Given the description of an element on the screen output the (x, y) to click on. 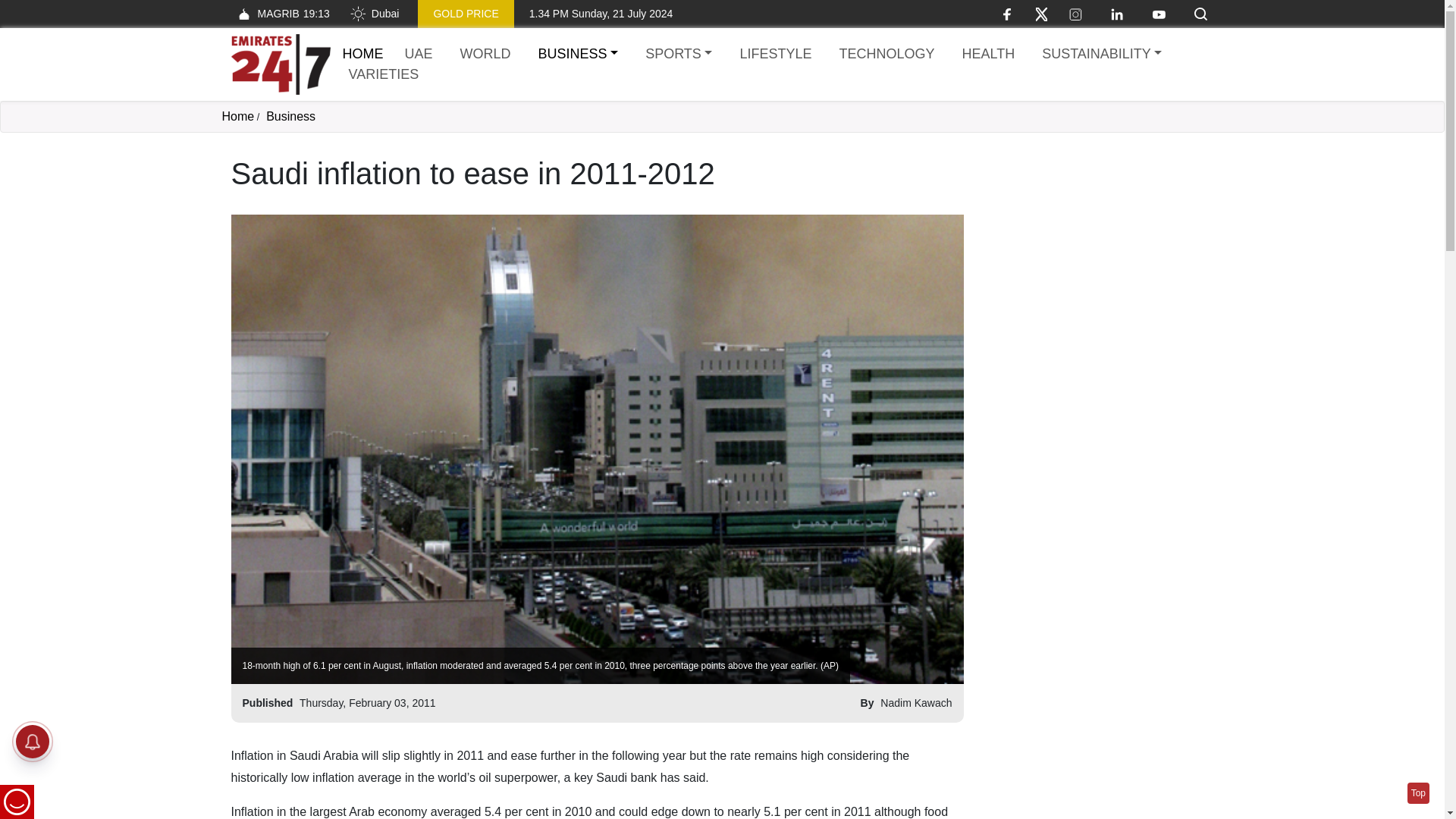
TECHNOLOGY (886, 54)
Business (279, 13)
GOLD PRICE (290, 115)
HEALTH (465, 13)
SPORTS (987, 54)
UAE (678, 54)
Home (418, 54)
3rd party ad content (237, 115)
Home (1097, 249)
BUSINESS (280, 64)
Home (578, 54)
SUSTAINABILITY (363, 53)
Dubai (1101, 54)
VARIETIES (374, 13)
